Given the description of an element on the screen output the (x, y) to click on. 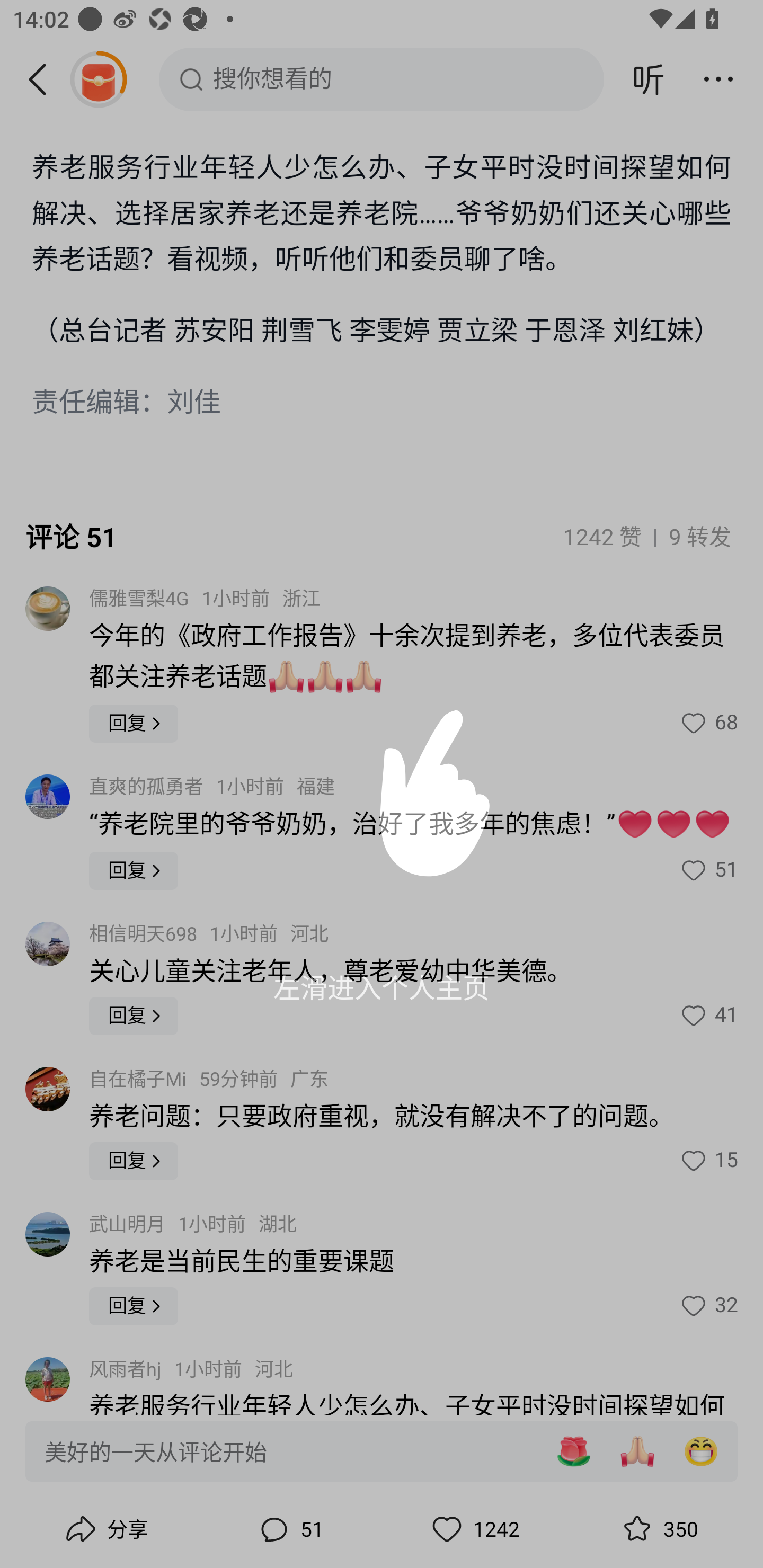
返回 (44, 78)
听头条 (648, 78)
更多操作 (718, 78)
搜你想看的 搜索框，搜你想看的 (381, 79)
阅读赚金币 (98, 79)
儒雅雪梨4G 1小时前 浙江 (204, 598)
回复 (133, 723)
直爽的孤勇者 1小时前 福建 (211, 787)
回复 (133, 870)
相信明天698 1小时前 河北 (208, 934)
回复 (133, 1015)
自在橘子Mi 59分钟前 广东 (208, 1079)
回复 (133, 1160)
武山明月 1小时前 湖北 (192, 1224)
回复 (133, 1305)
风雨者hj 1小时前 河北 (190, 1370)
美好的一天从评论开始 [玫瑰] [祈祷] [呲牙] (381, 1449)
[玫瑰] (573, 1451)
[祈祷] (636, 1451)
[呲牙] (700, 1451)
分享 (104, 1529)
评论,51 51 (288, 1529)
收藏,350 350 (658, 1529)
